Given the description of an element on the screen output the (x, y) to click on. 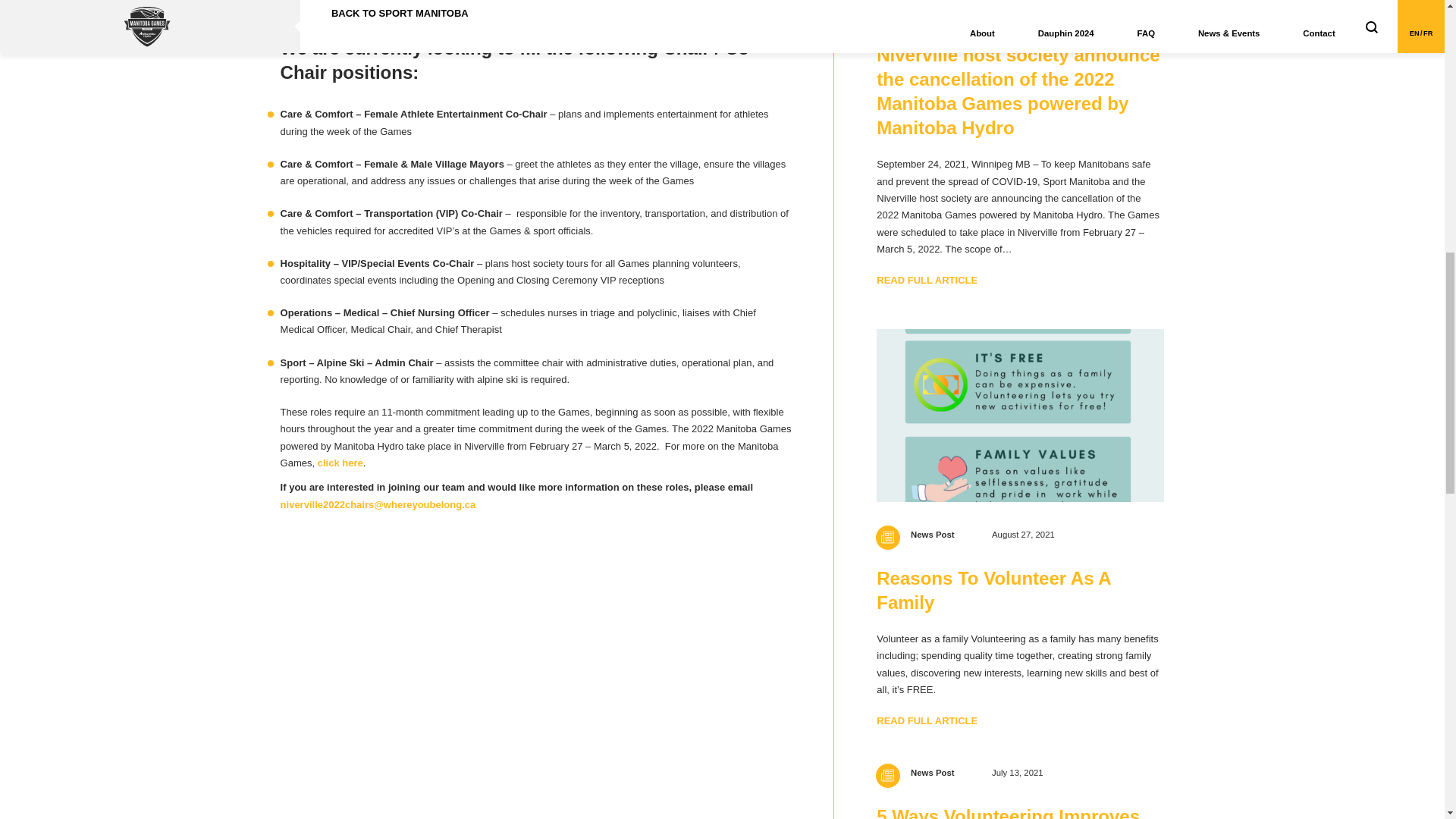
Reasons To Volunteer As A Family (993, 590)
READ FULL ARTICLE (926, 720)
5 Ways Volunteering Improves Your Resume (1008, 812)
click here (339, 462)
READ FULL ARTICLE (926, 280)
